Given the description of an element on the screen output the (x, y) to click on. 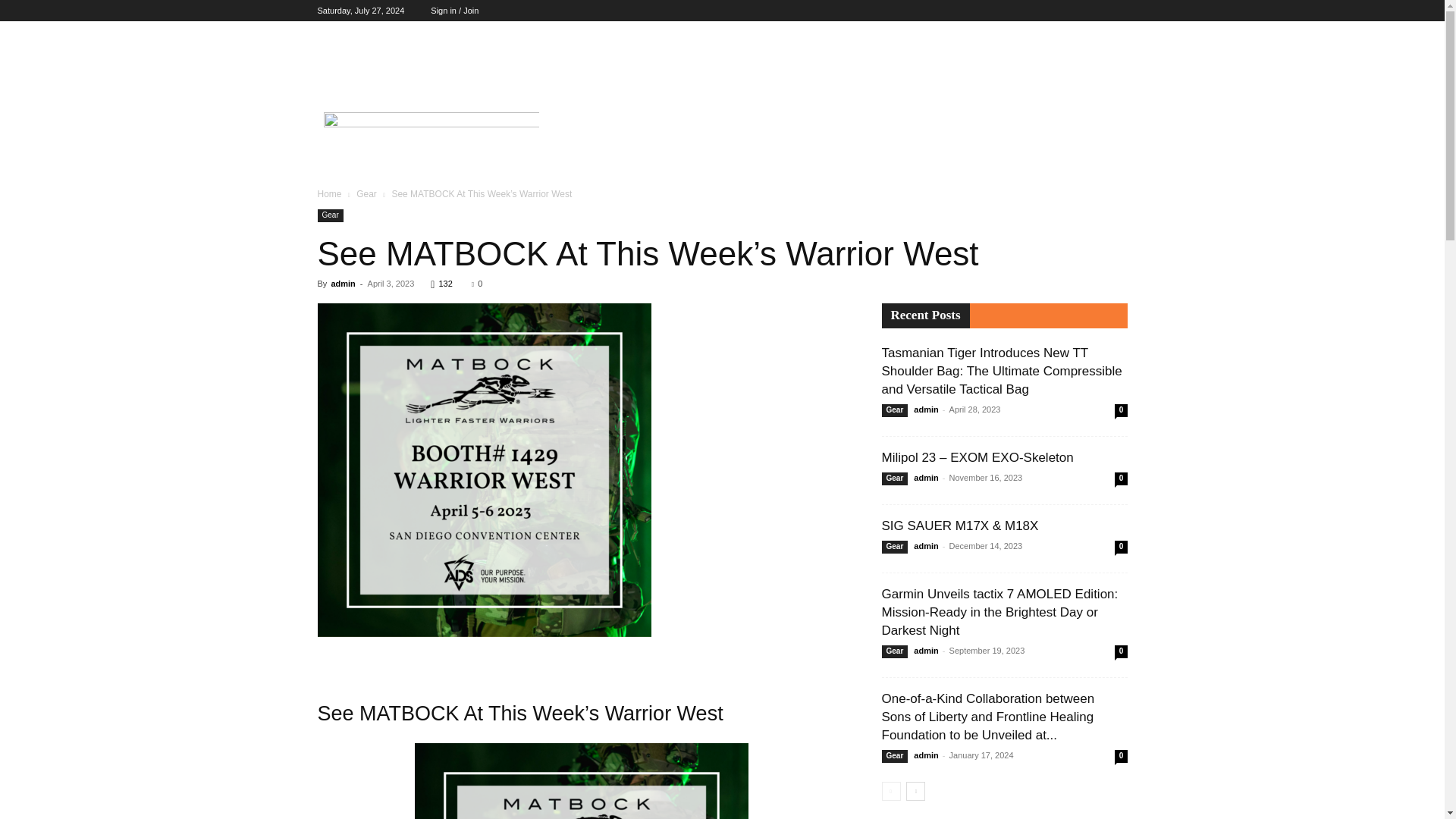
Gear (366, 194)
admin (342, 283)
Gear (396, 39)
View all posts in Gear (366, 194)
Training (454, 39)
WARRIOR-WEST-440x440.png (483, 470)
Gear (329, 215)
Survival (590, 39)
0 (476, 283)
Hunting (522, 39)
Home (328, 194)
Home (344, 39)
Search (1085, 99)
